Given the description of an element on the screen output the (x, y) to click on. 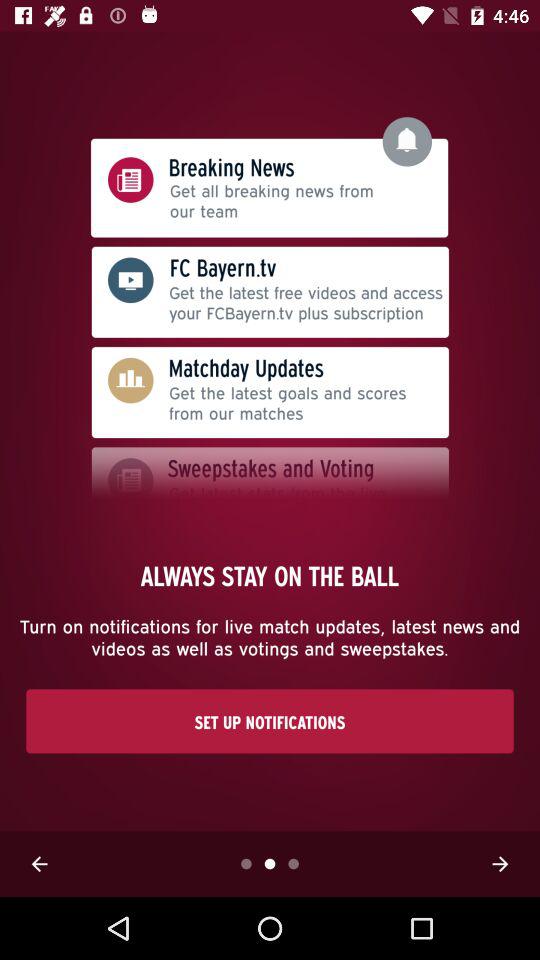
go back (39, 864)
